Given the description of an element on the screen output the (x, y) to click on. 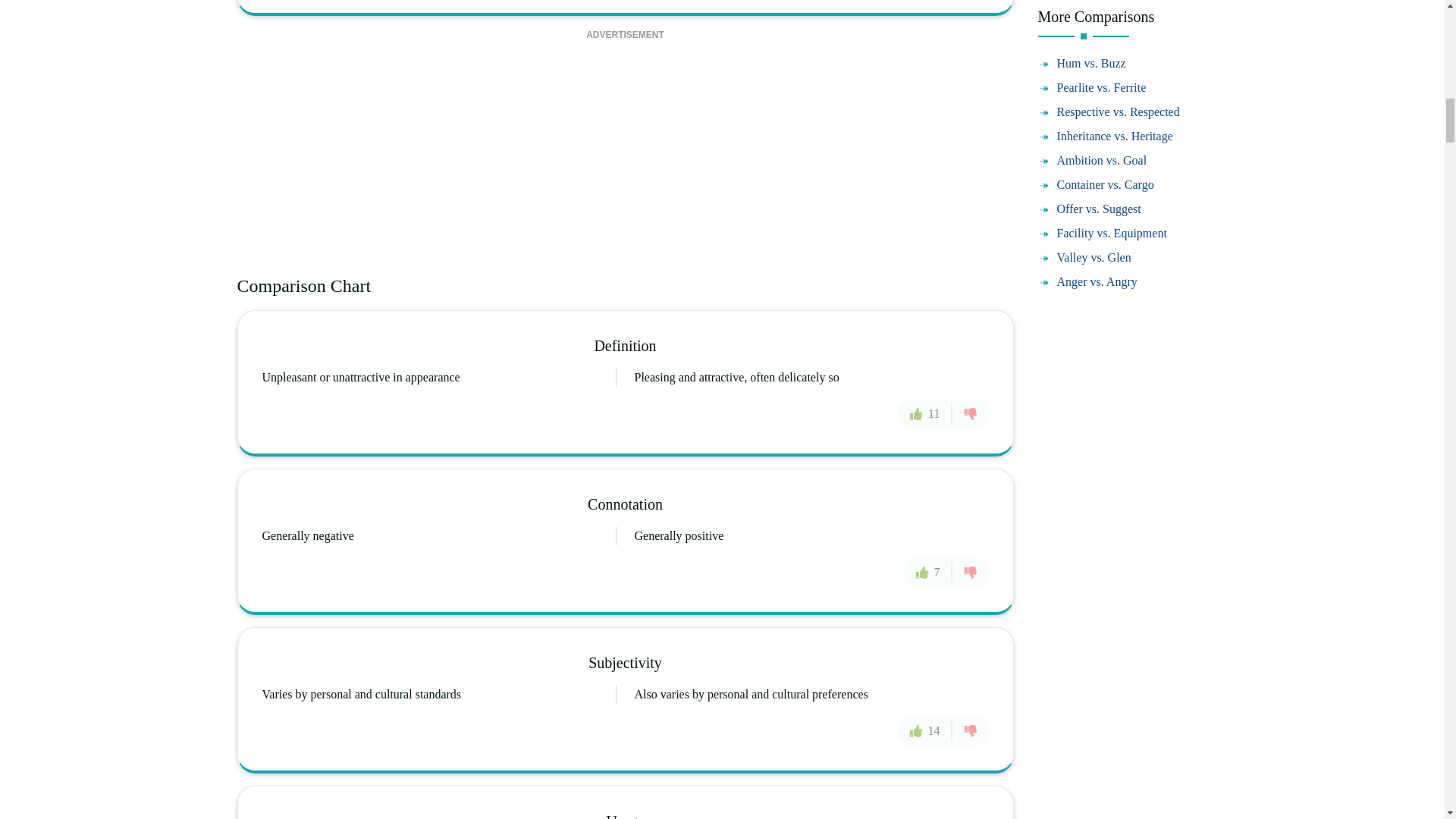
7 (928, 572)
11 (925, 413)
14 (925, 730)
